Given the description of an element on the screen output the (x, y) to click on. 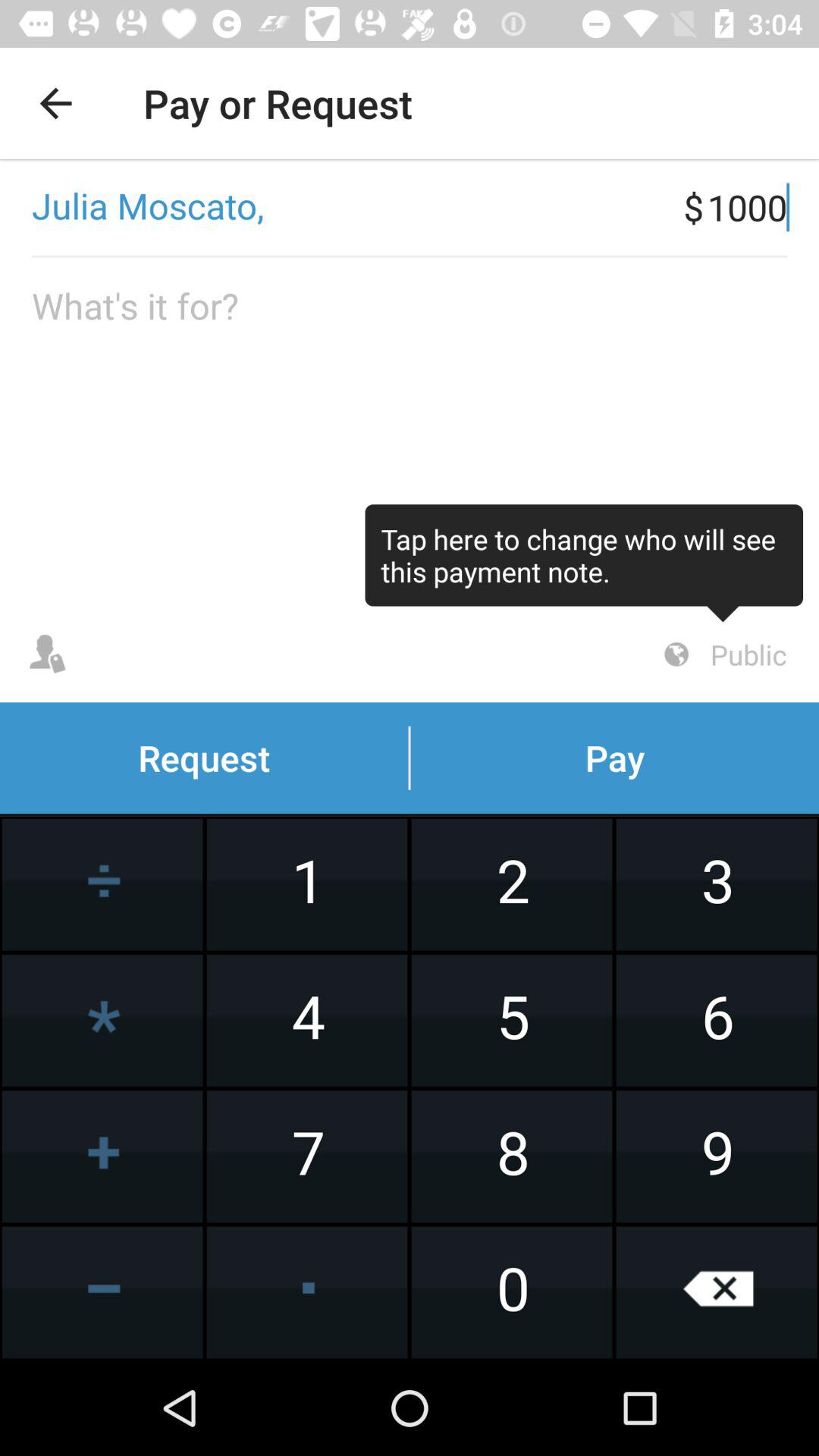
type reason for payment (409, 431)
